Given the description of an element on the screen output the (x, y) to click on. 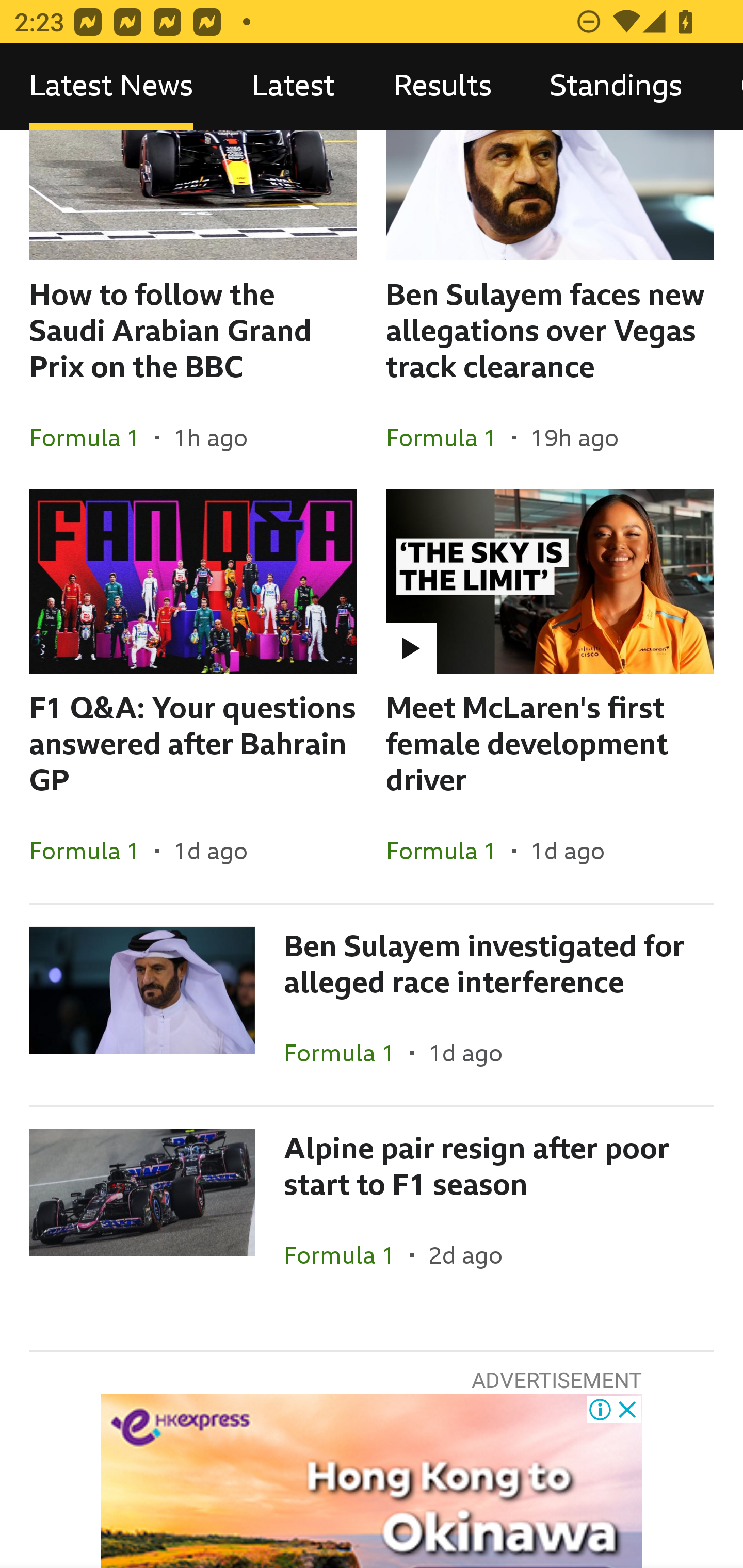
Latest News, selected Latest News (111, 86)
Latest (293, 86)
Results (442, 86)
Standings (615, 86)
Advertisement (371, 1480)
